Given the description of an element on the screen output the (x, y) to click on. 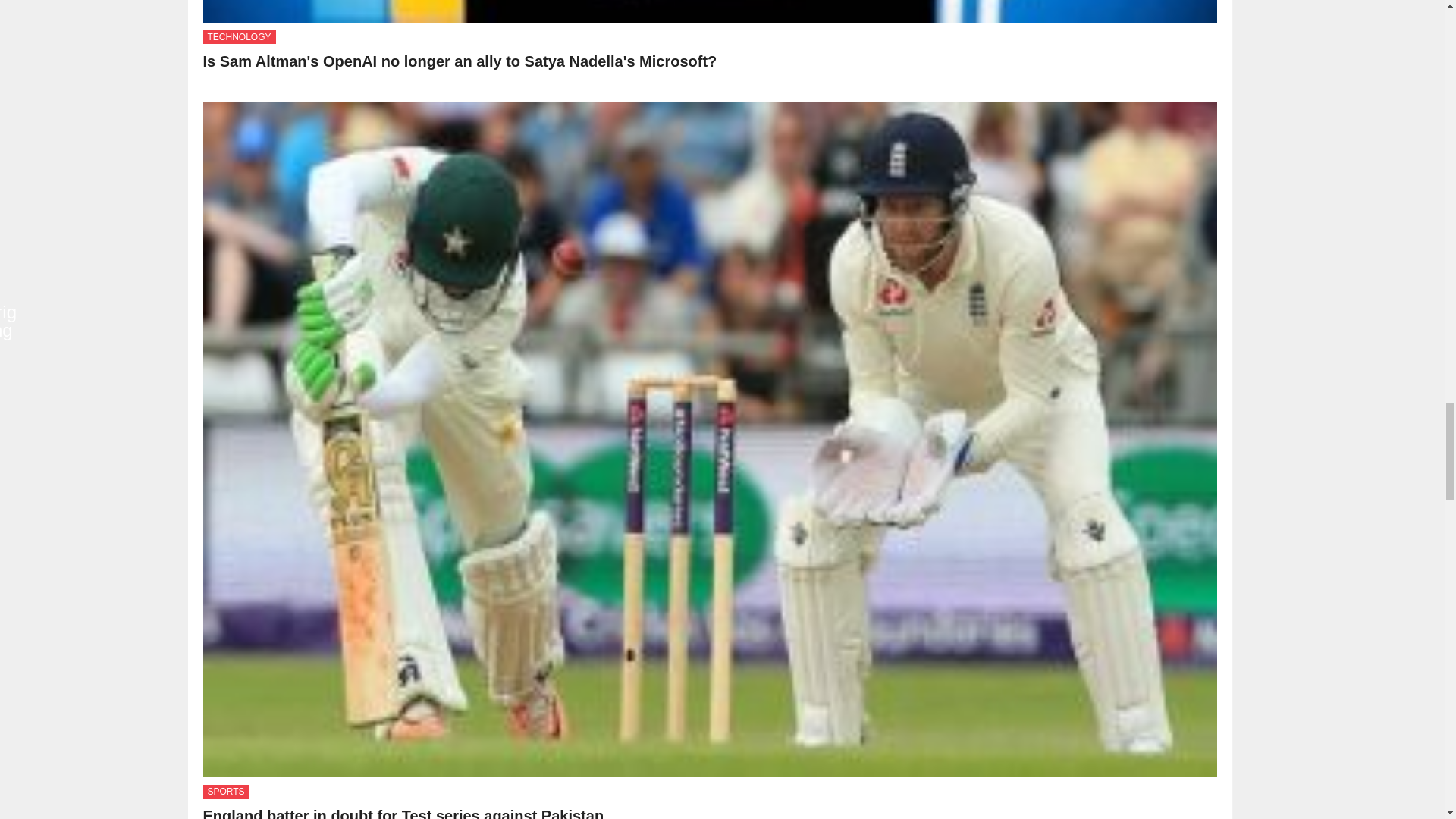
TECHNOLOGY (239, 37)
England batter in doubt for Test series against Pakistan (403, 813)
